Given the description of an element on the screen output the (x, y) to click on. 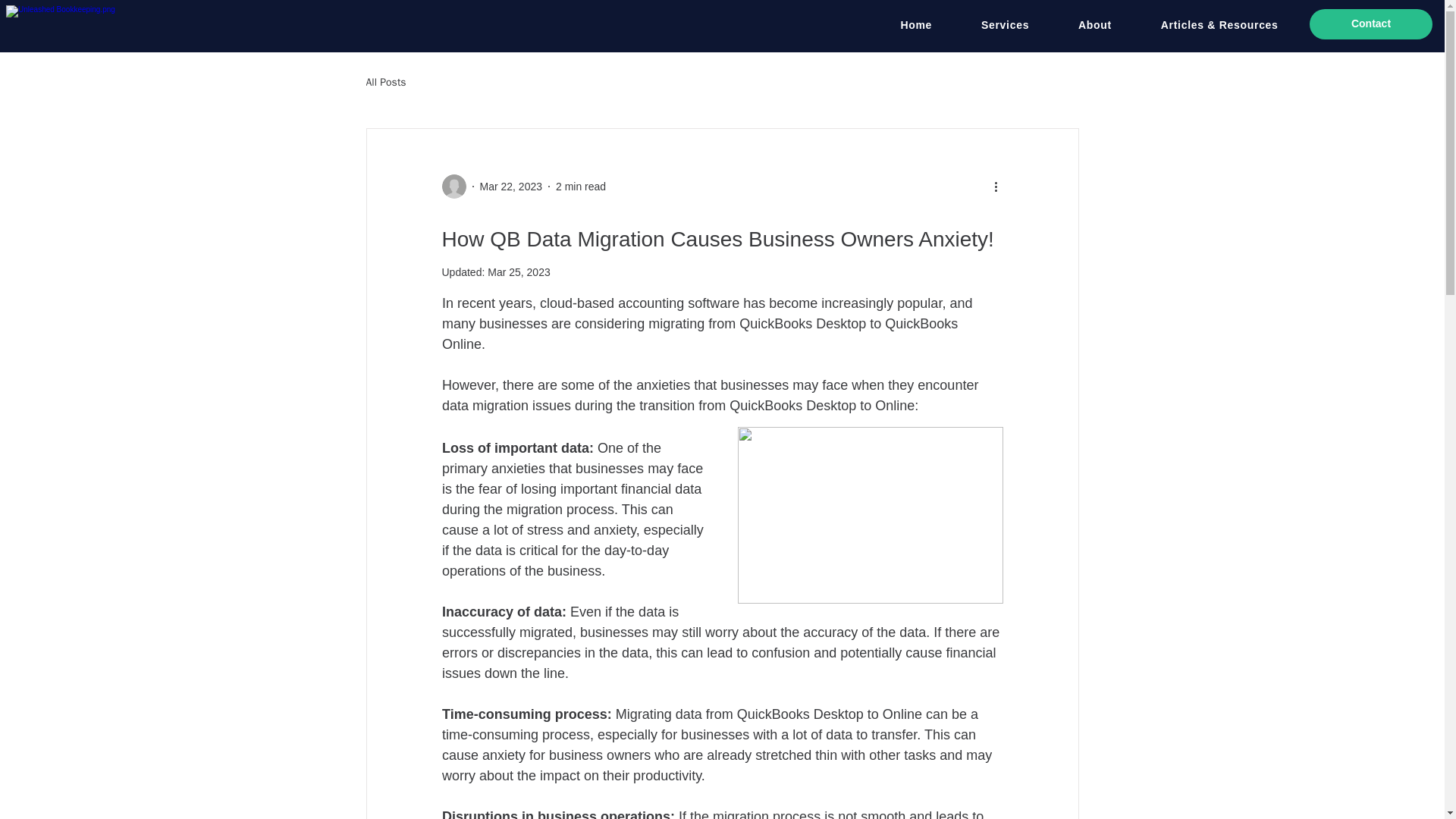
Mar 22, 2023 (510, 186)
Contact (1370, 24)
Services (1005, 24)
About (1095, 24)
2 min read (580, 186)
All Posts (385, 82)
Mar 25, 2023 (518, 272)
Home (916, 24)
